Given the description of an element on the screen output the (x, y) to click on. 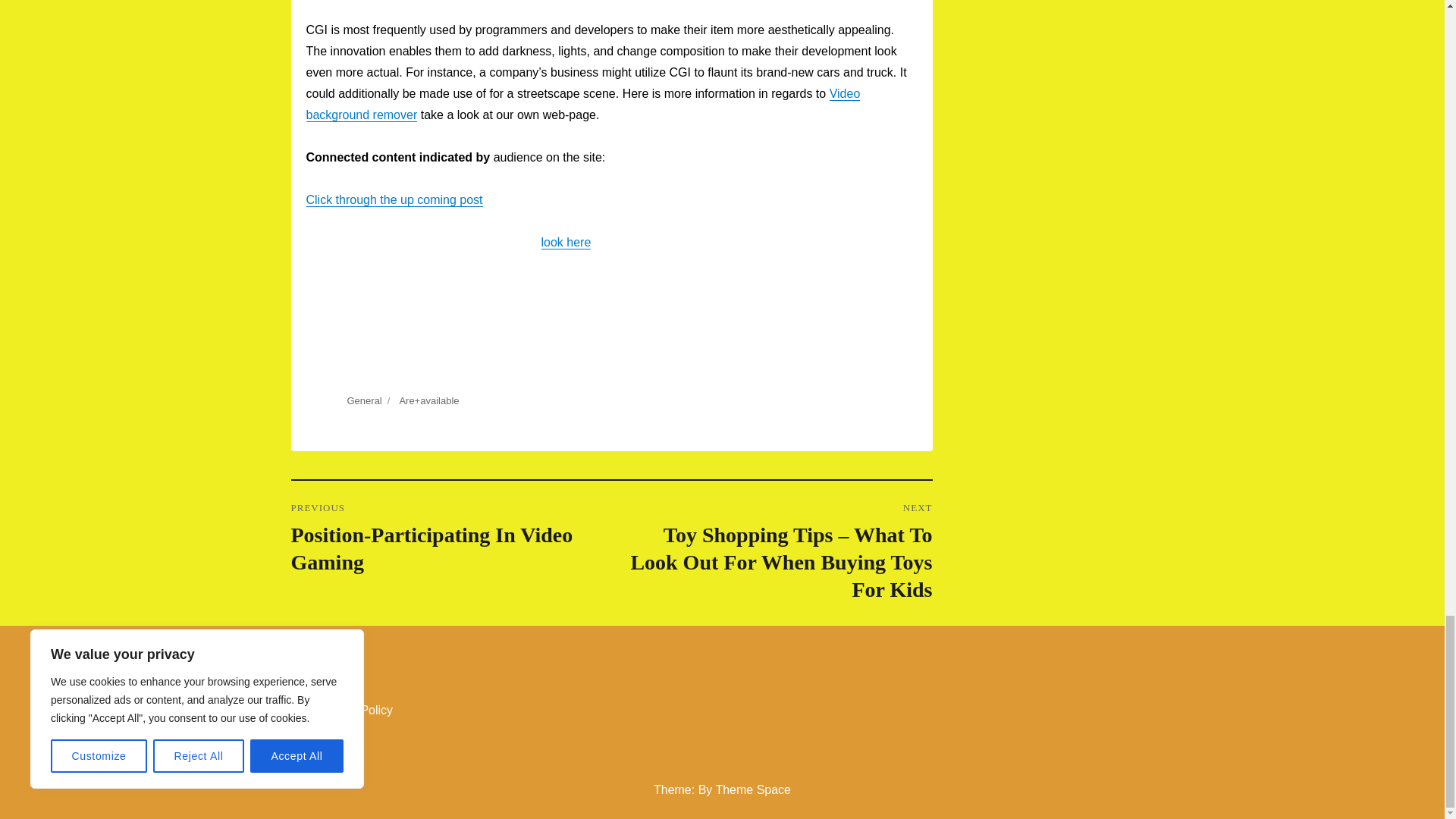
look here (566, 241)
Click through the up coming post (394, 199)
General (364, 400)
Video background remover (582, 103)
